Given the description of an element on the screen output the (x, y) to click on. 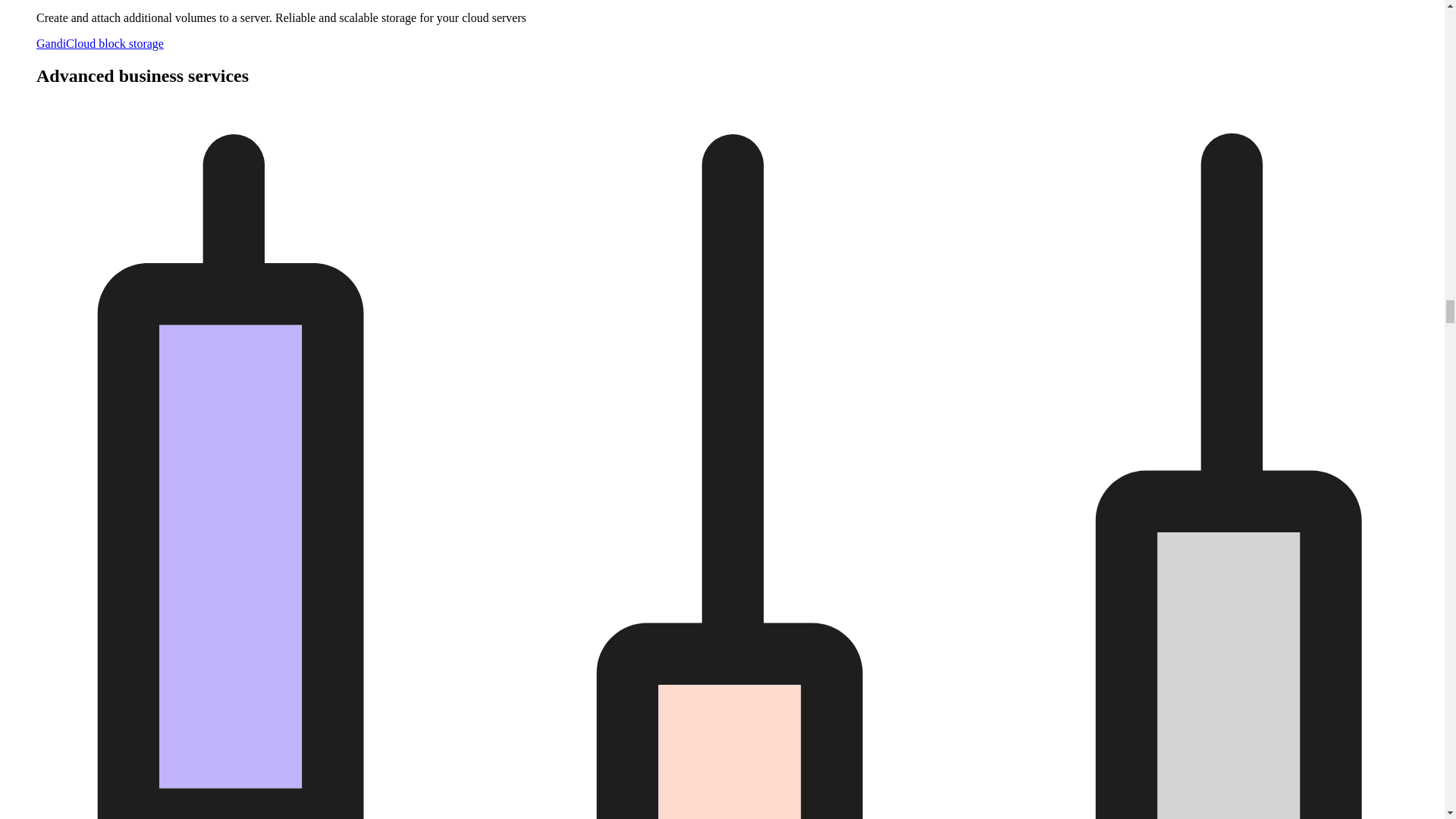
GandiCloud block storage (99, 42)
